Given the description of an element on the screen output the (x, y) to click on. 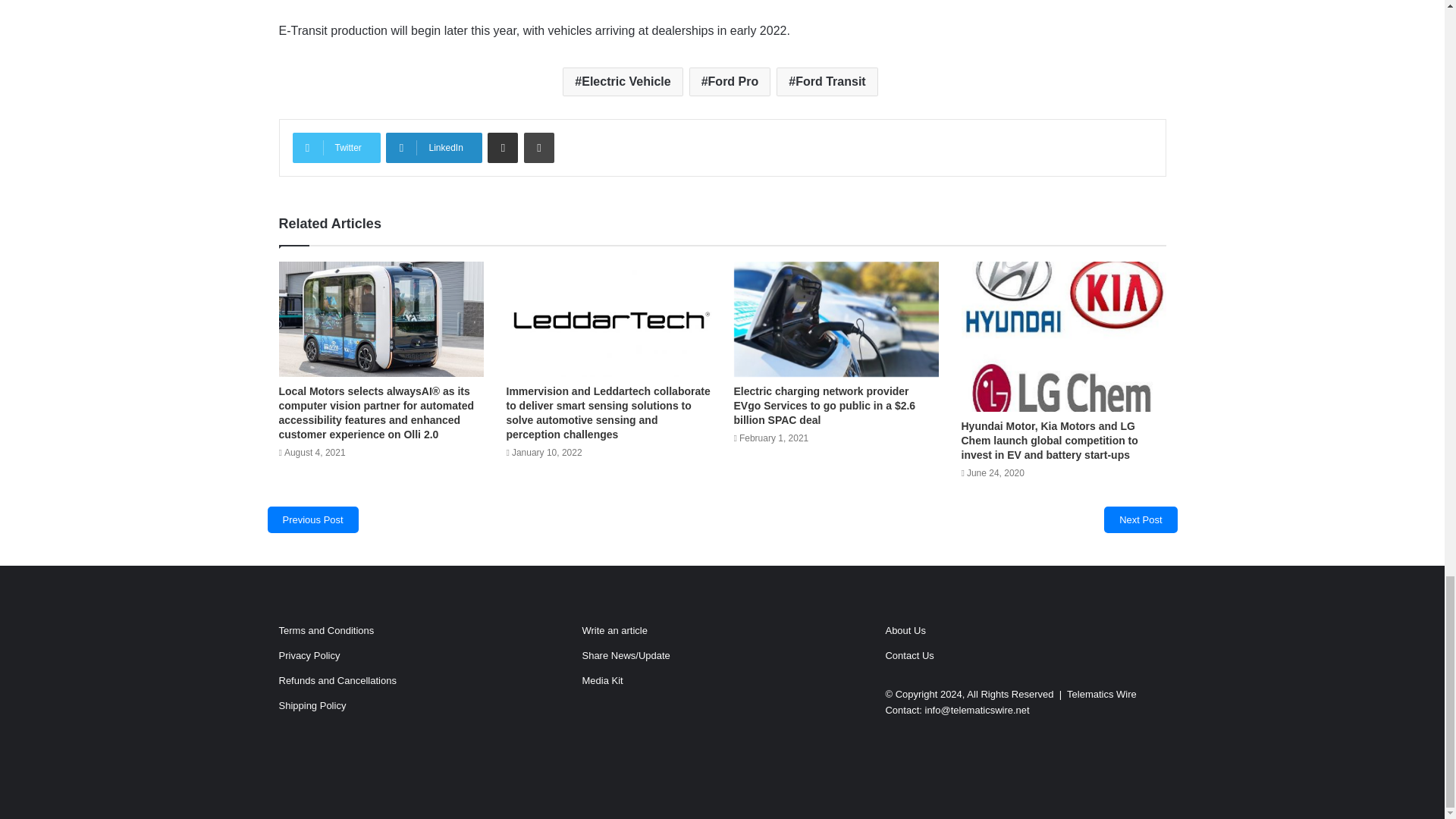
Print (539, 147)
Twitter (336, 147)
LinkedIn (433, 147)
Share via Email (502, 147)
